Given the description of an element on the screen output the (x, y) to click on. 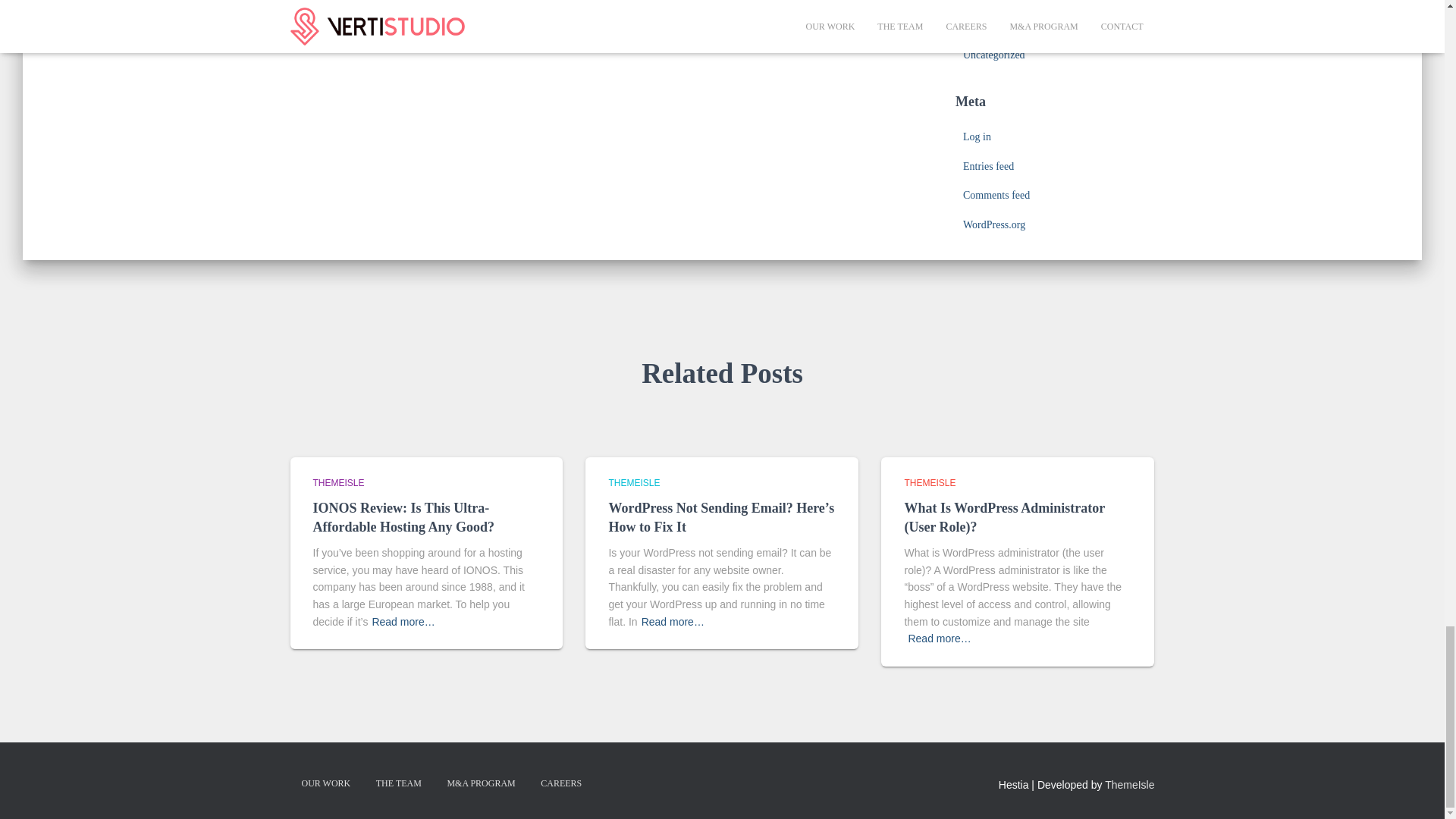
View all posts in Themeisle (633, 482)
View all posts in Themeisle (929, 482)
View all posts in Themeisle (338, 482)
IONOS Review: Is This Ultra-Affordable Hosting Any Good? (404, 517)
